Given the description of an element on the screen output the (x, y) to click on. 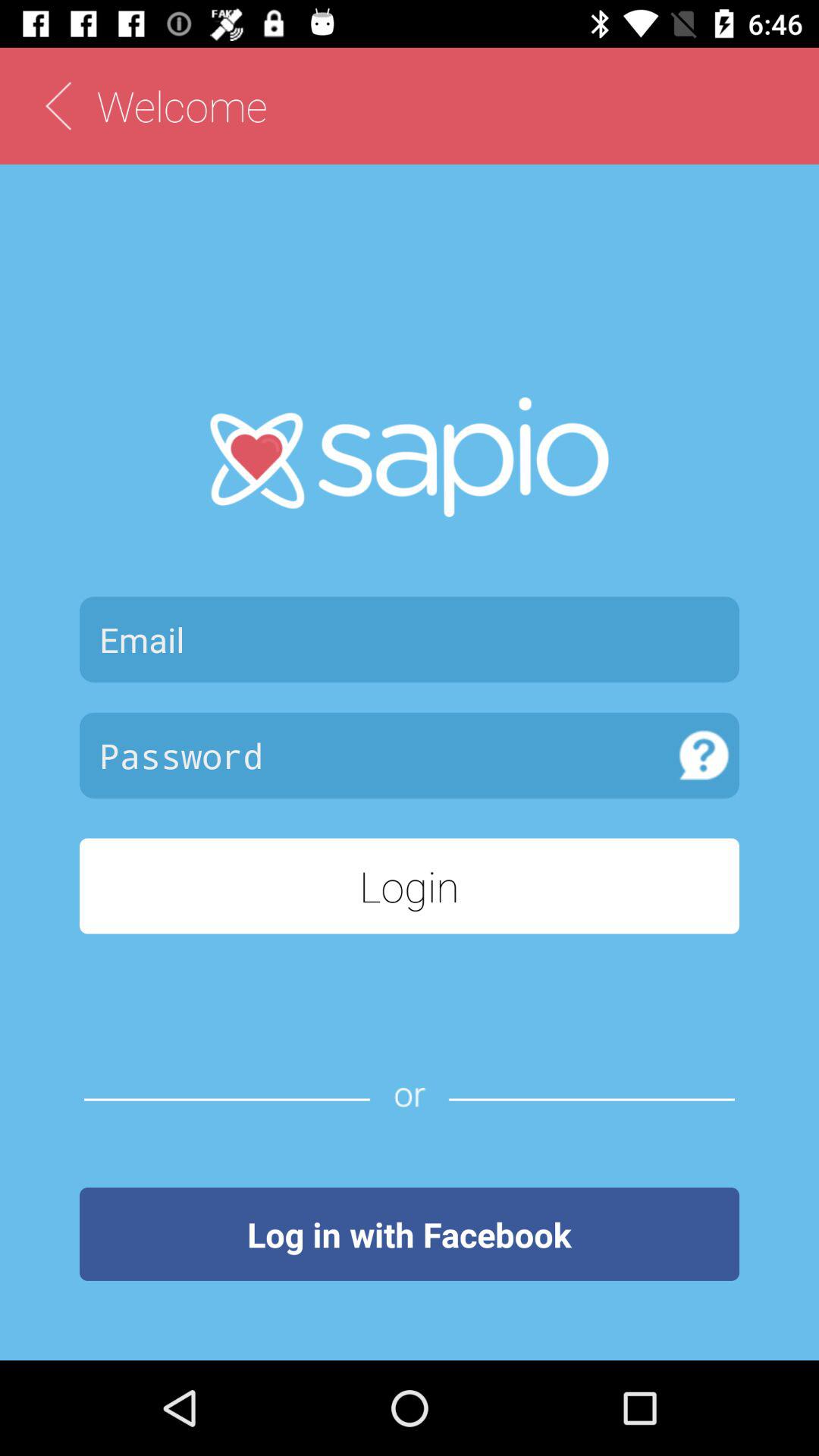
jump to the login (409, 885)
